Given the description of an element on the screen output the (x, y) to click on. 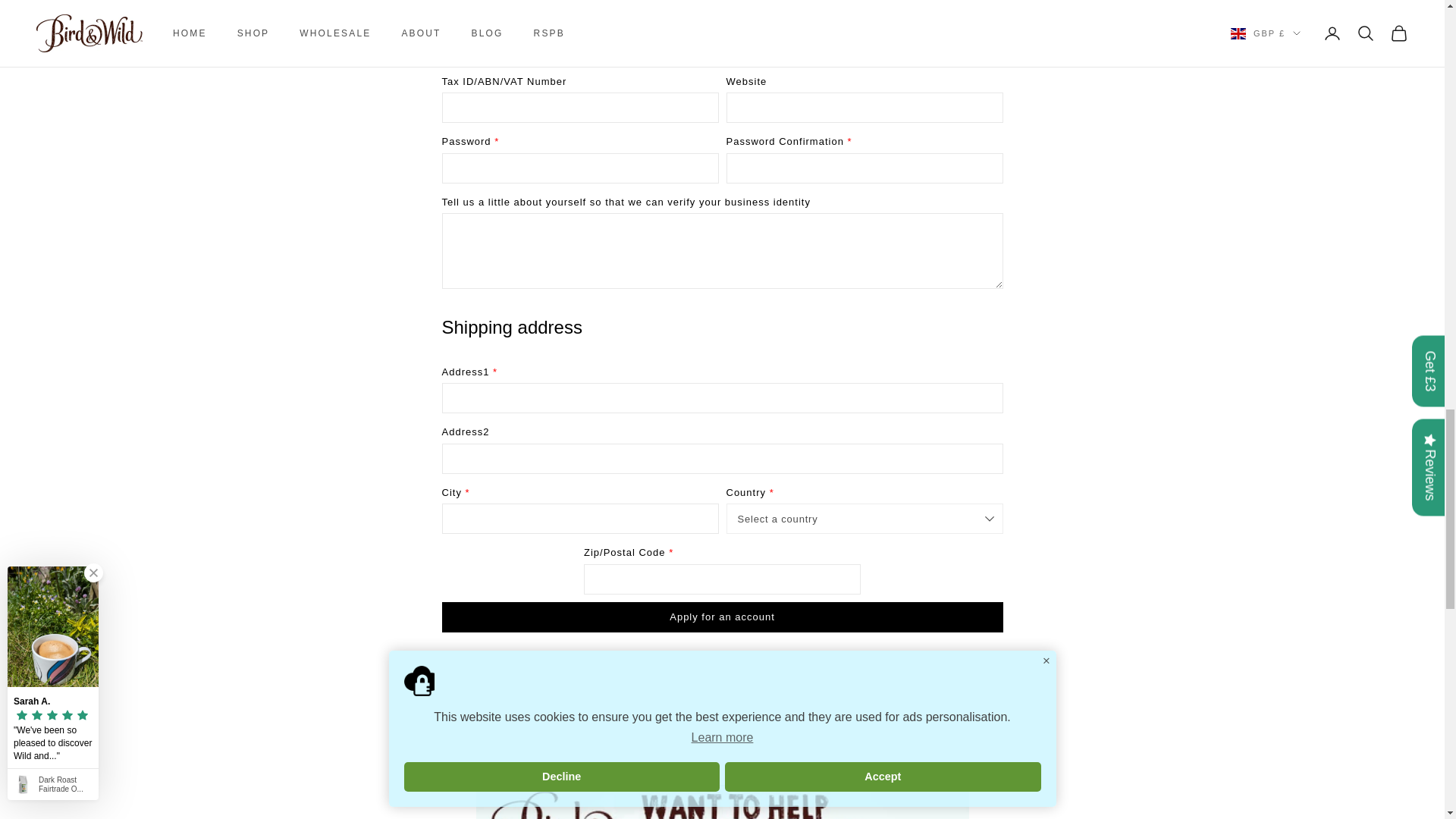
Apply for an account (722, 616)
